Given the description of an element on the screen output the (x, y) to click on. 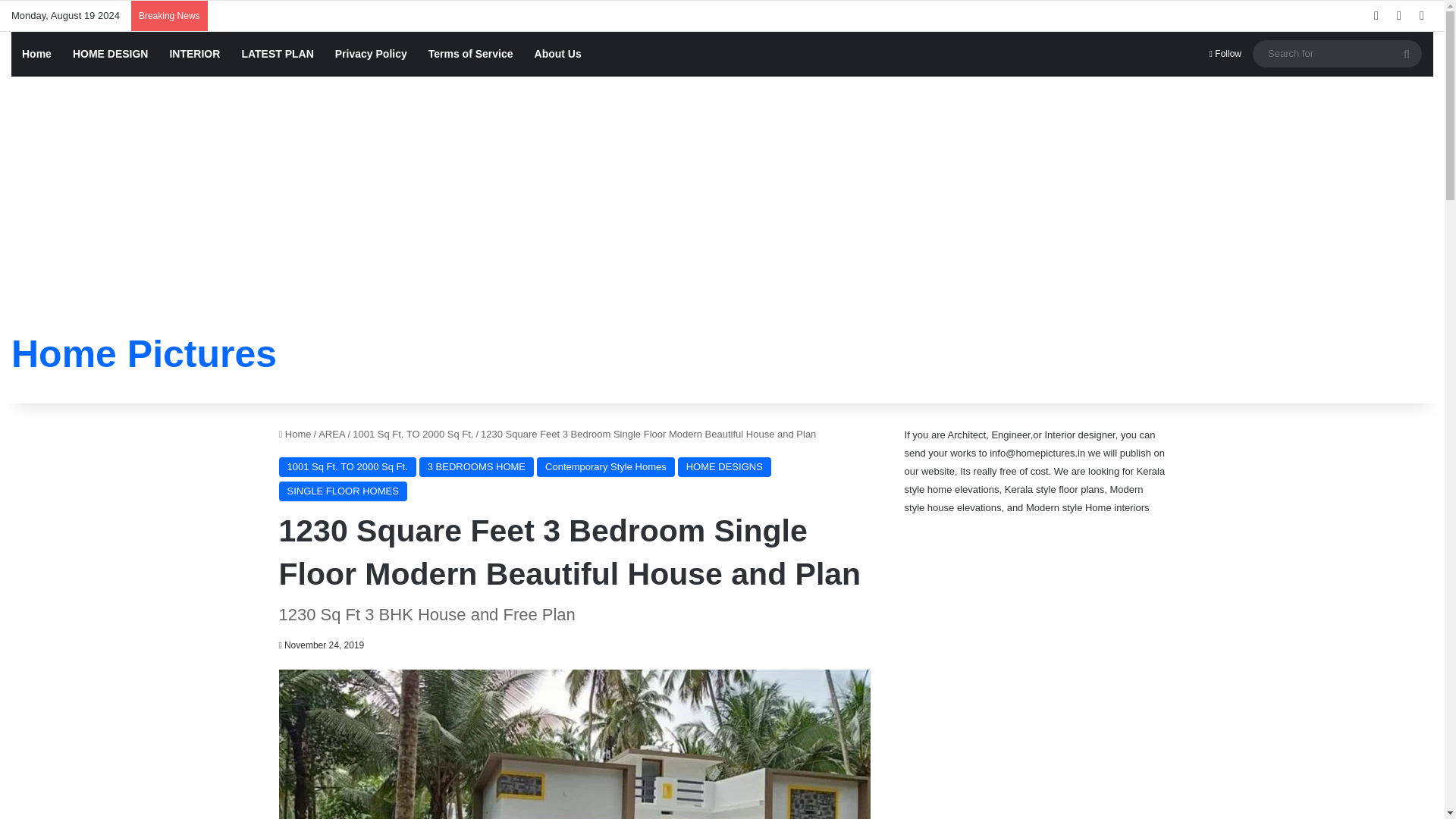
Contemporary Style Homes (606, 466)
Follow (1225, 53)
3 BEDROOMS HOME (476, 466)
SINGLE FLOOR HOMES (343, 491)
Search for (1406, 53)
About Us (558, 53)
1001 Sq Ft. TO 2000 Sq Ft. (412, 433)
INTERIOR (194, 53)
HOME DESIGN (110, 53)
Search for (1337, 53)
